Given the description of an element on the screen output the (x, y) to click on. 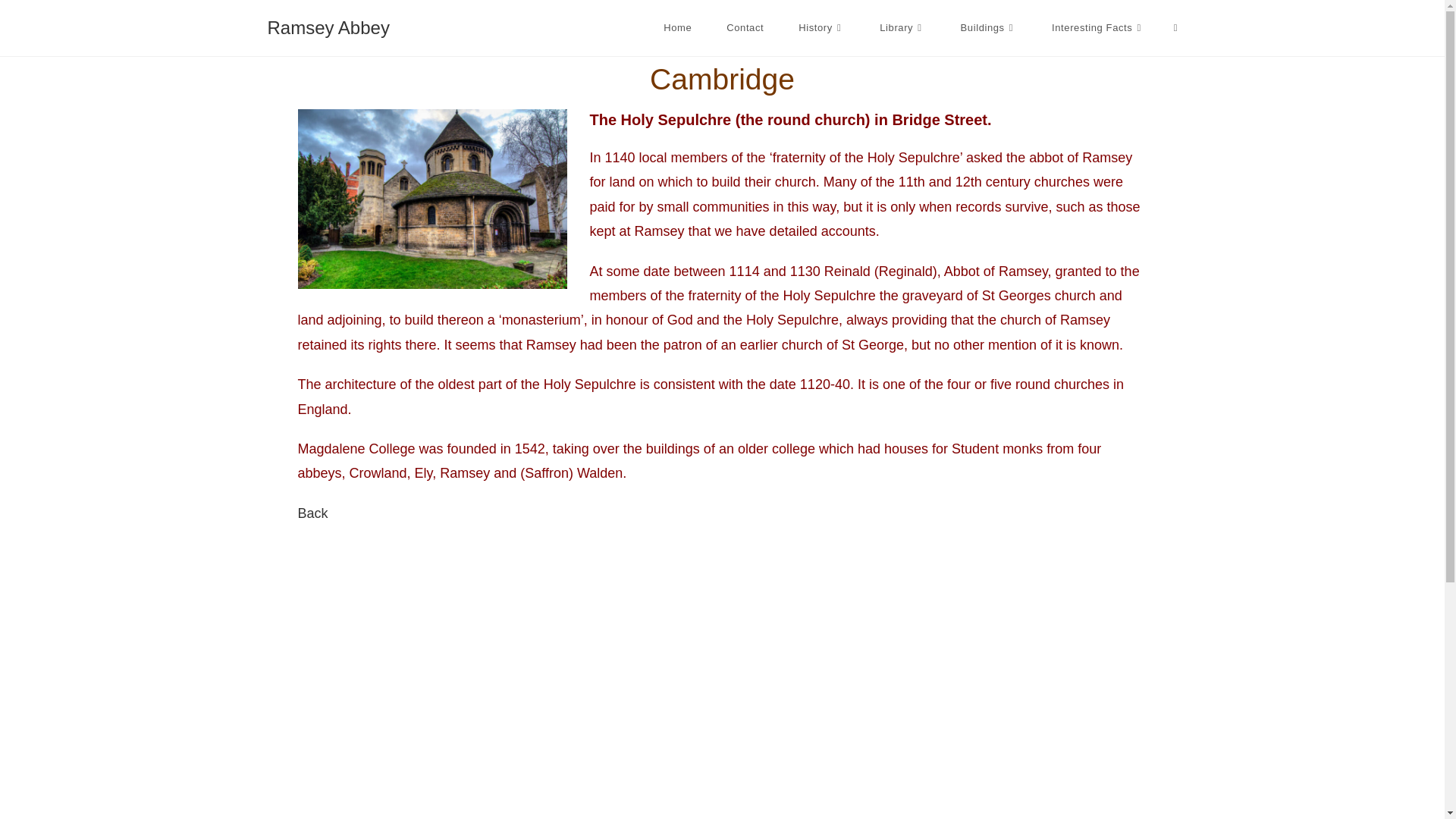
Interesting Facts (1097, 28)
Ramsey Abbey (327, 27)
Contact (744, 28)
Home (677, 28)
Buildings (989, 28)
Library (901, 28)
History (820, 28)
